Given the description of an element on the screen output the (x, y) to click on. 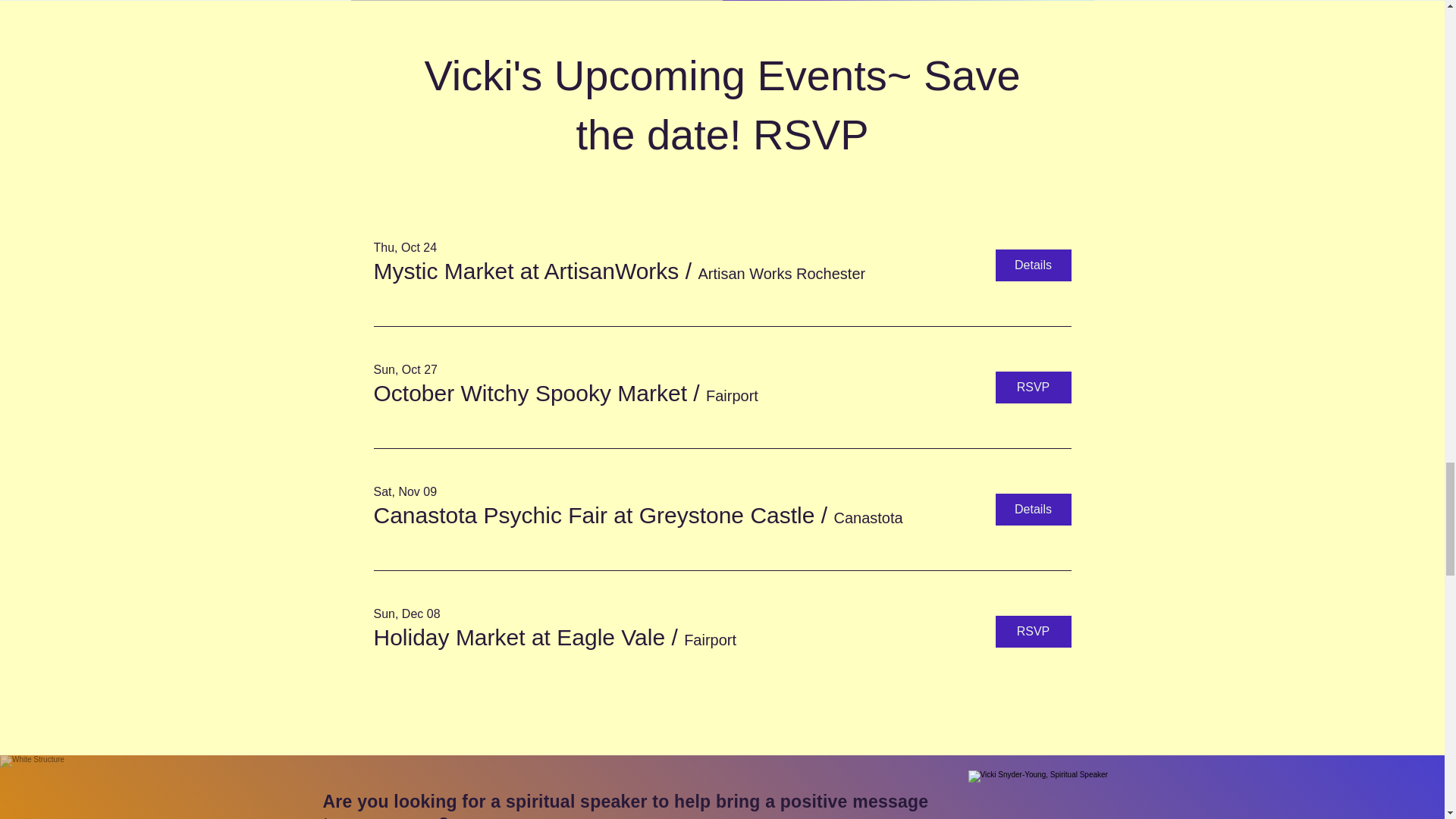
Details (1032, 265)
RSVP (1032, 387)
Details (1032, 509)
